Given the description of an element on the screen output the (x, y) to click on. 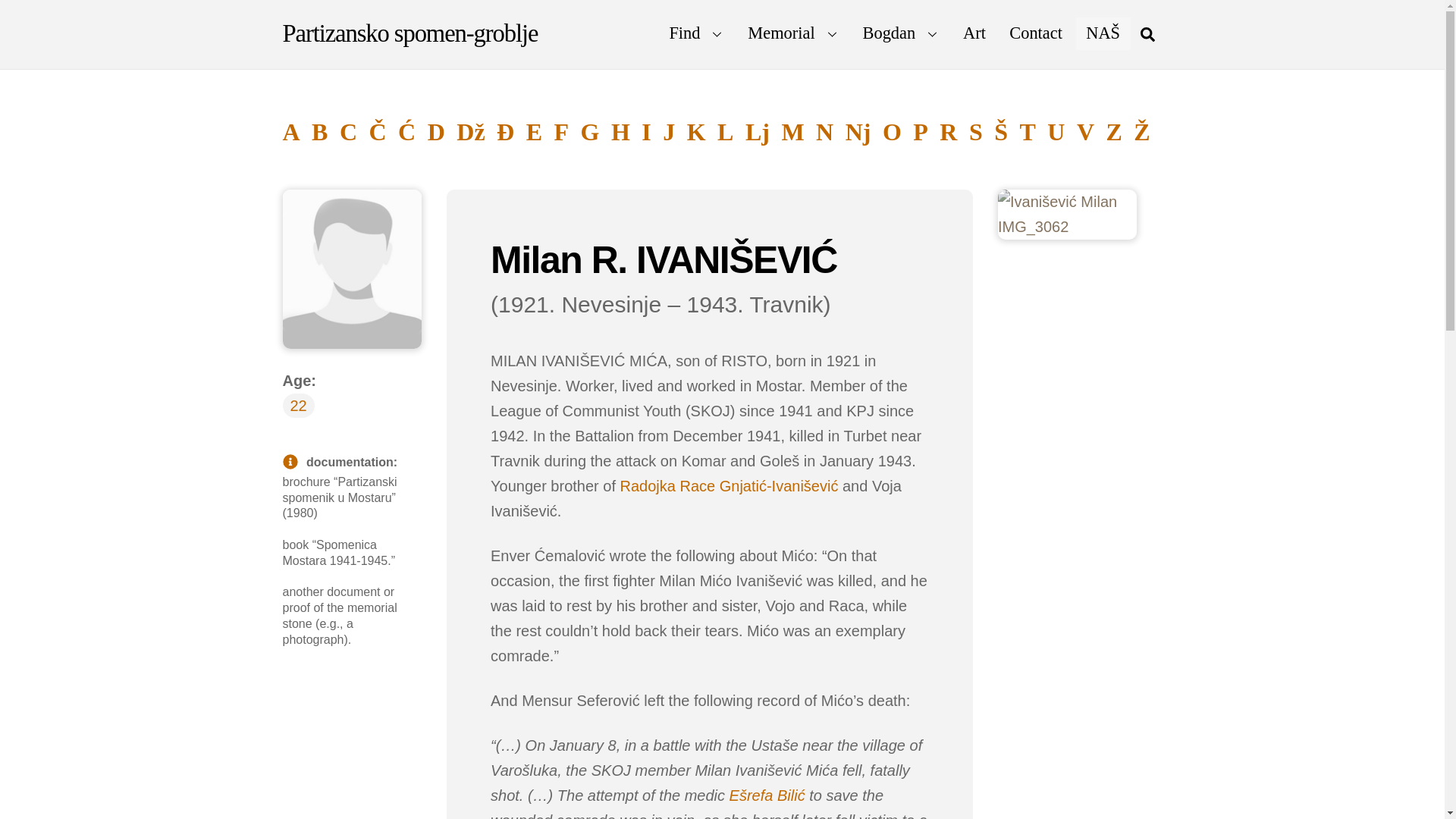
Contact (1035, 33)
Lj (757, 131)
Art (974, 33)
Partizansko spomen-groblje (409, 32)
Nj (857, 131)
Bogdan (900, 33)
Find (697, 33)
M (791, 131)
Search (1146, 32)
Memorial (793, 33)
